Given the description of an element on the screen output the (x, y) to click on. 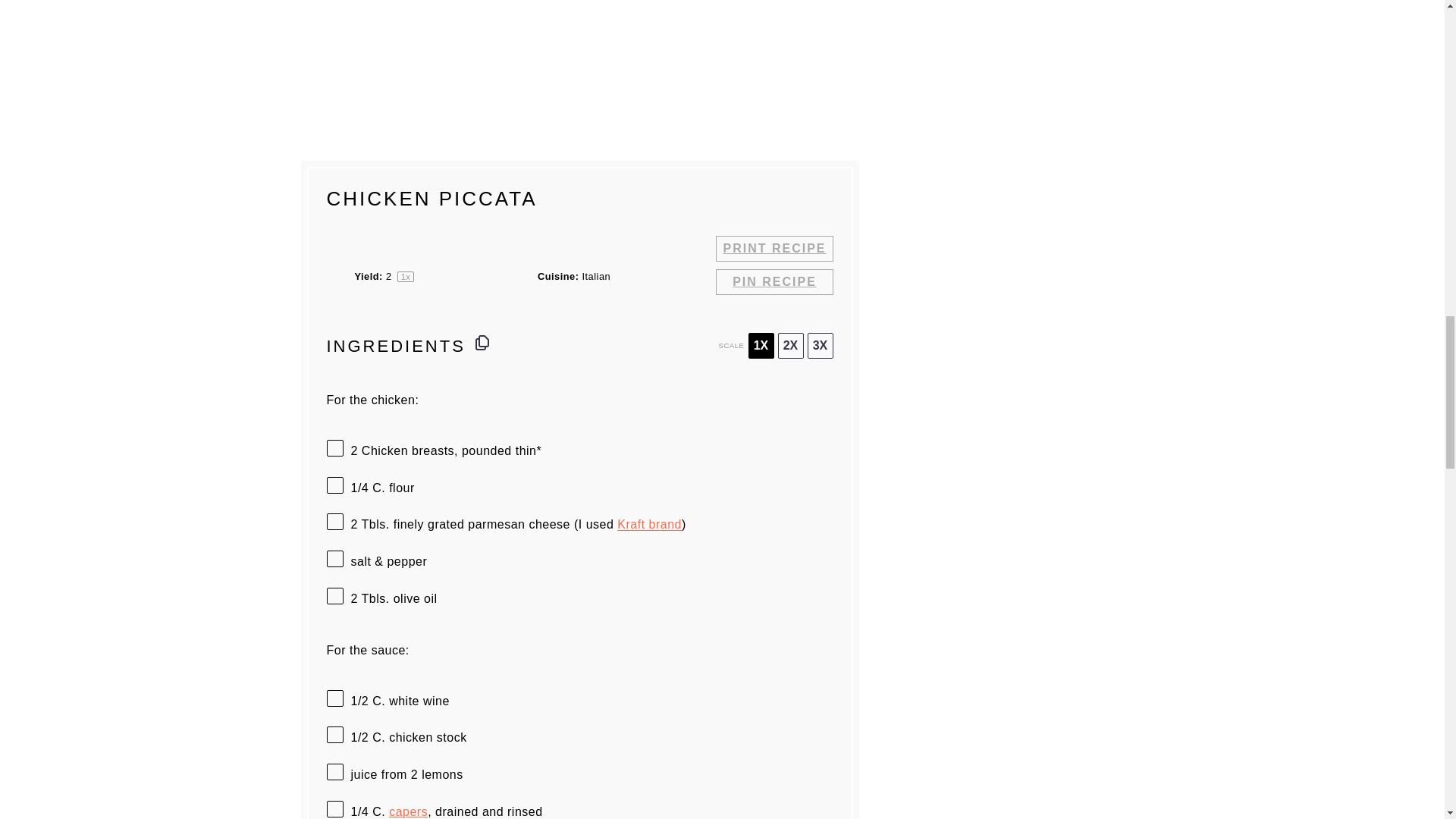
PIN RECIPE (774, 281)
COPY TO CLIPBOARD COPY TO CLIPBOARD (482, 342)
COPY TO CLIPBOARD COPY TO CLIPBOARD (482, 342)
